Given the description of an element on the screen output the (x, y) to click on. 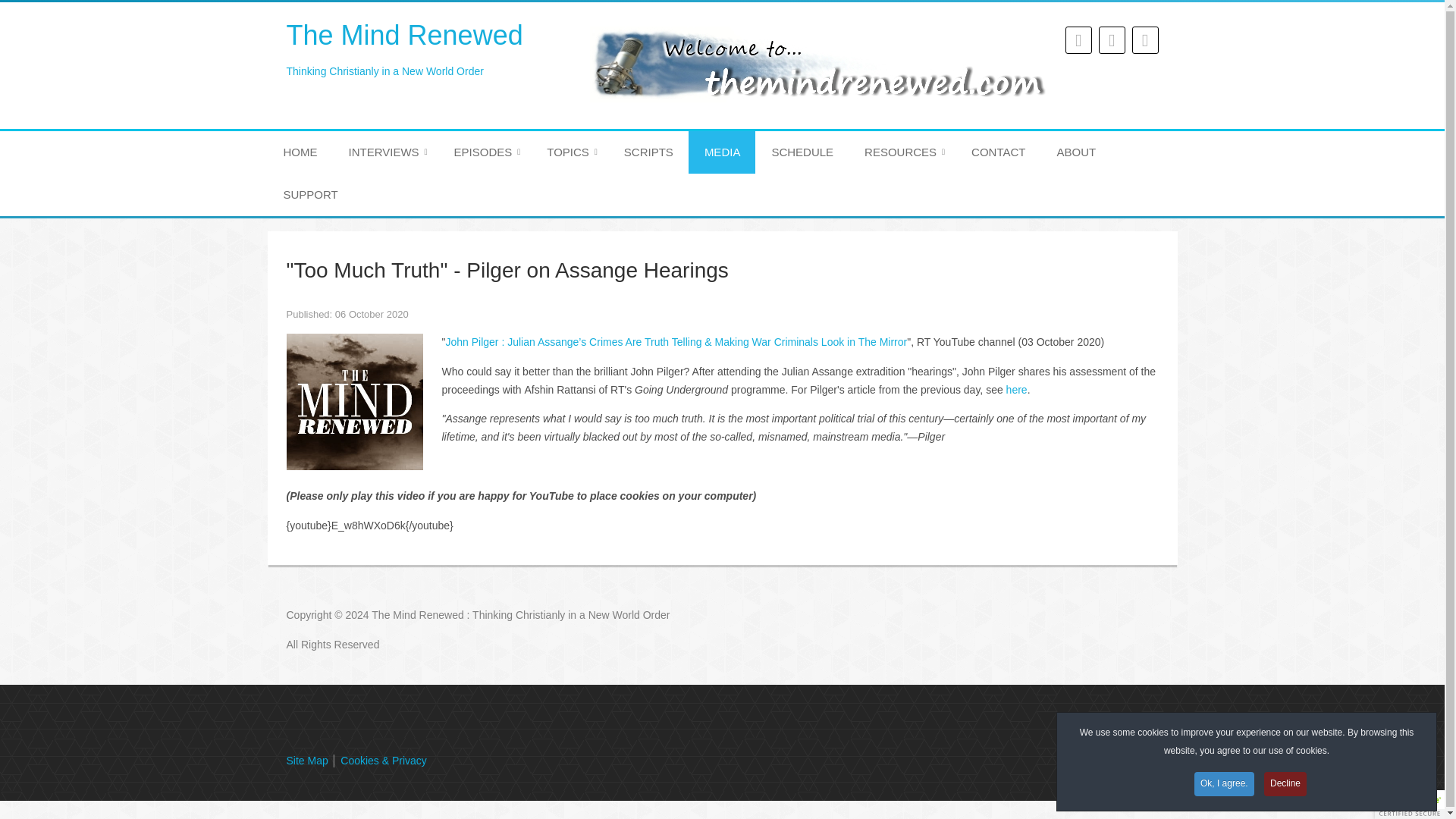
Off-site link to YouTube (676, 341)
EPISODES (418, 53)
INTERVIEWS (485, 152)
TOPICS (385, 152)
Off-site link (569, 152)
HOME (1016, 389)
